Given the description of an element on the screen output the (x, y) to click on. 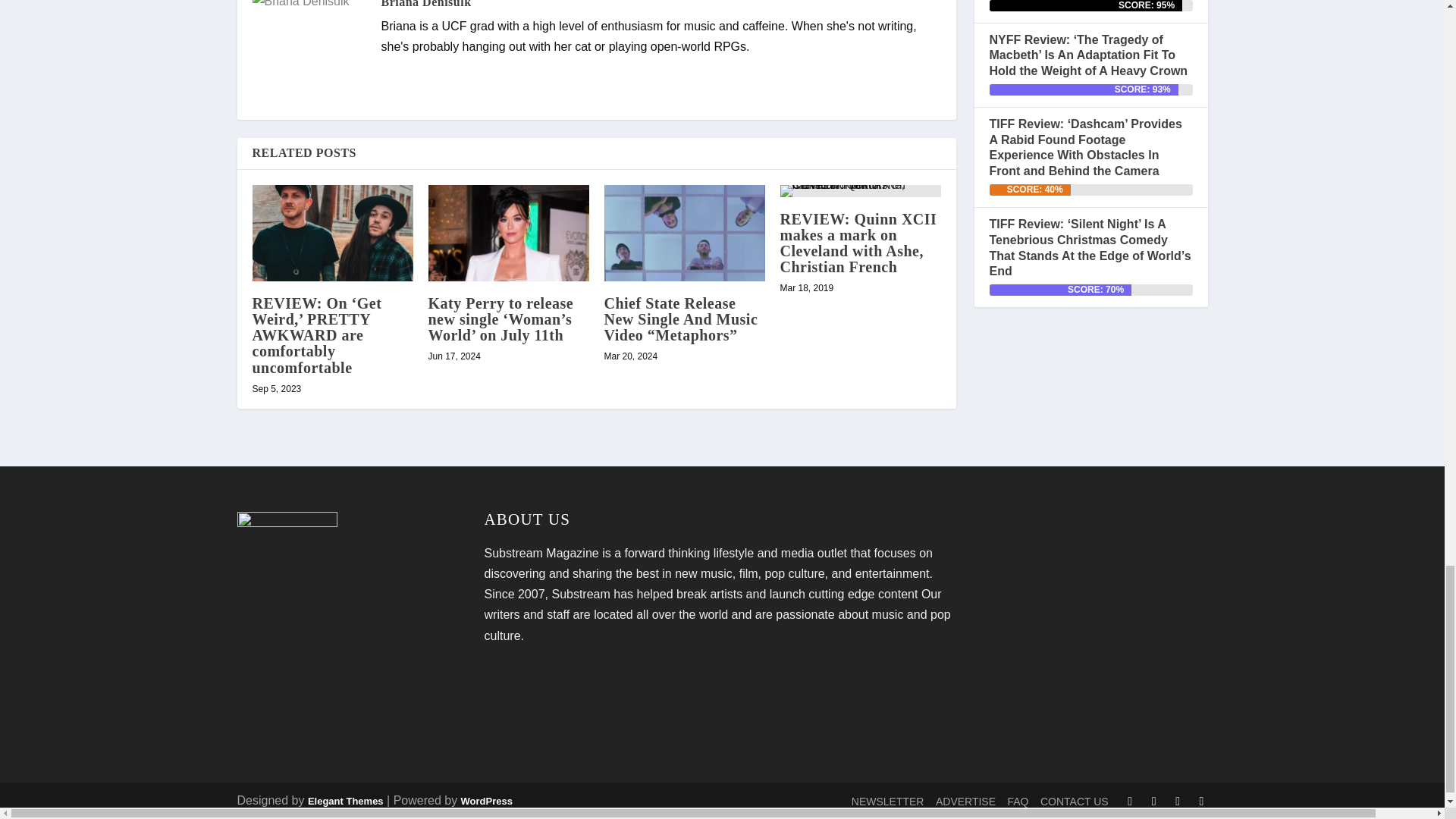
View all posts by Briana Denisulk (425, 4)
